Given the description of an element on the screen output the (x, y) to click on. 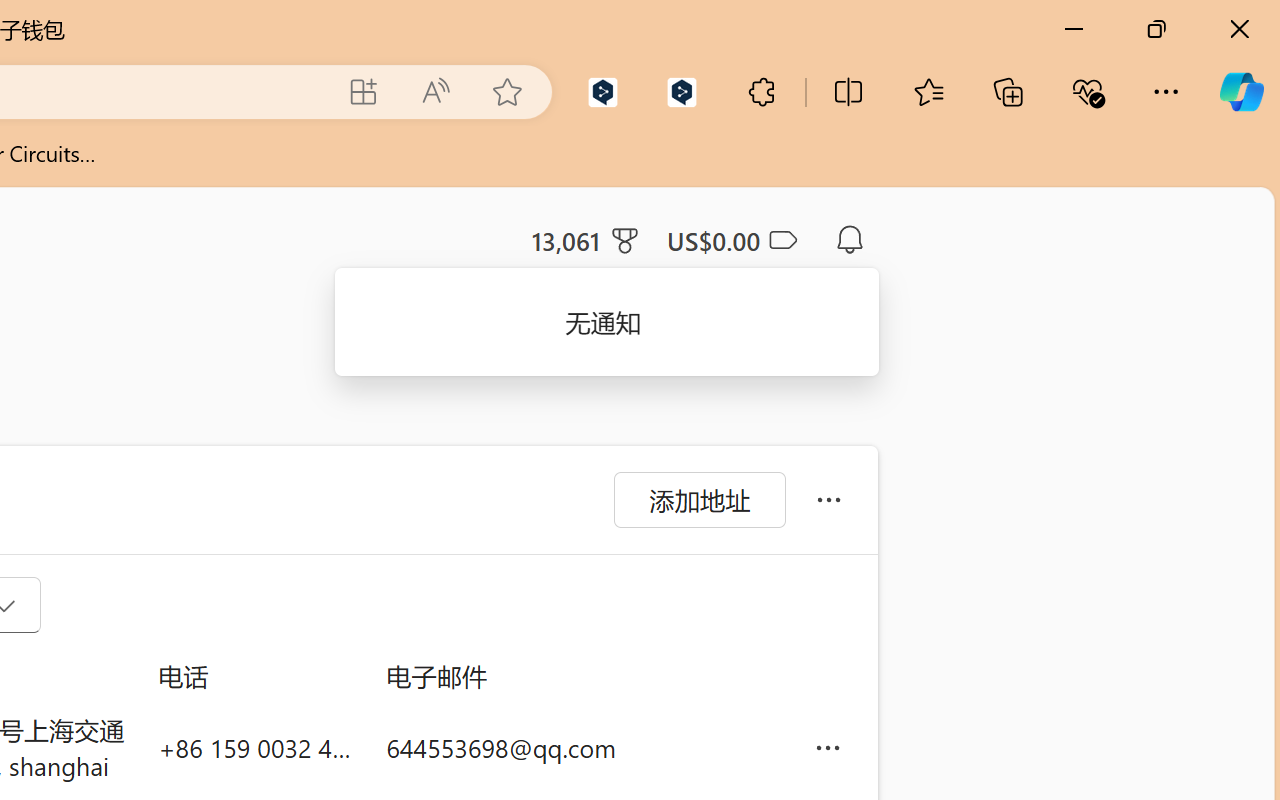
Class: ___1lmltc5 f1agt3bx f12qytpq (781, 241)
